Given the description of an element on the screen output the (x, y) to click on. 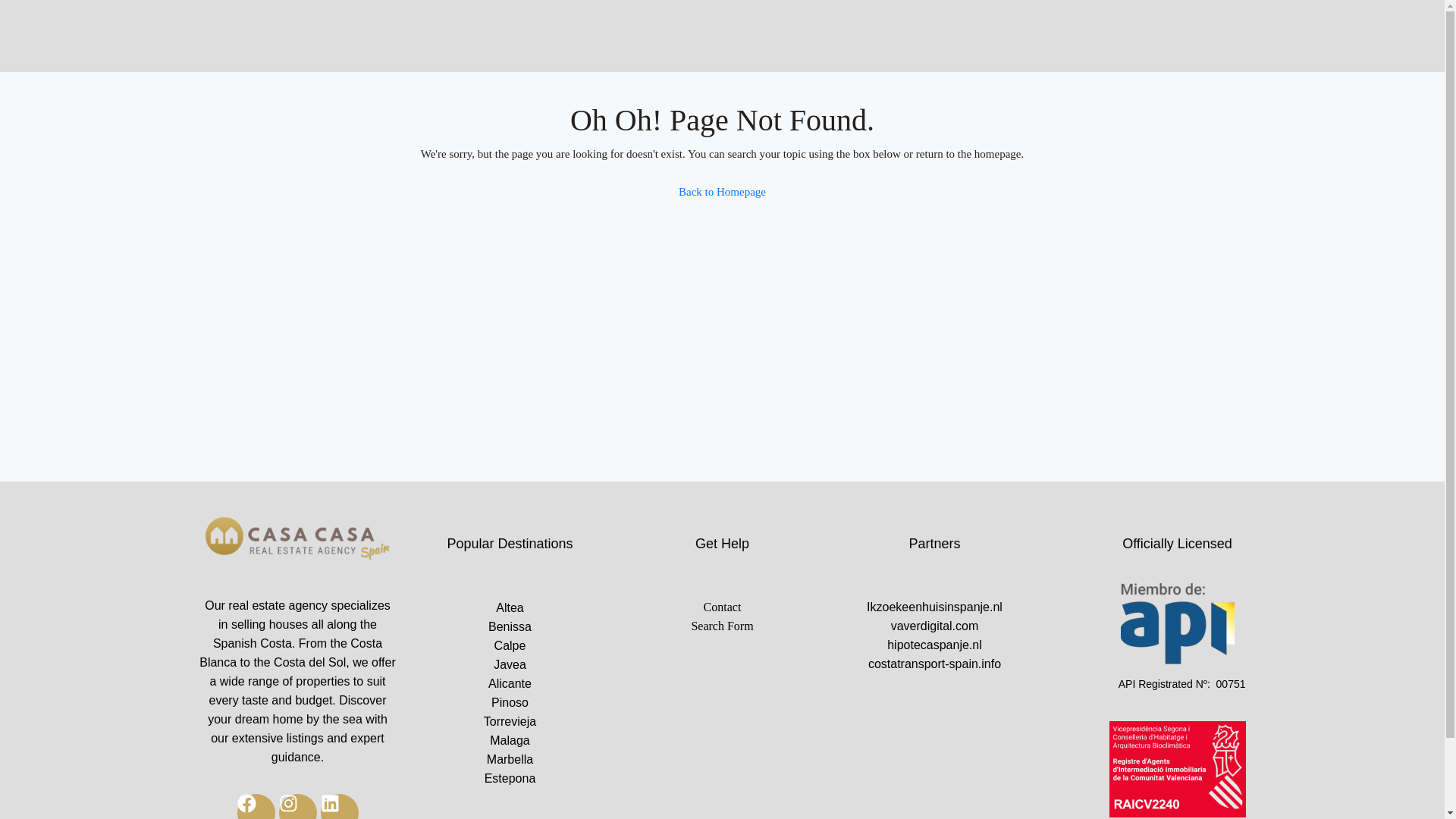
Contact (722, 606)
hipotecaspanje.nl (933, 644)
CASA CASA REAL ESTATE TRANSPA (297, 539)
costatransport-spain.info (933, 663)
Marbella (509, 759)
Torrevieja (509, 721)
Back to Homepage (721, 192)
Benissa (509, 626)
Malaga (509, 740)
Javea (509, 664)
